Given the description of an element on the screen output the (x, y) to click on. 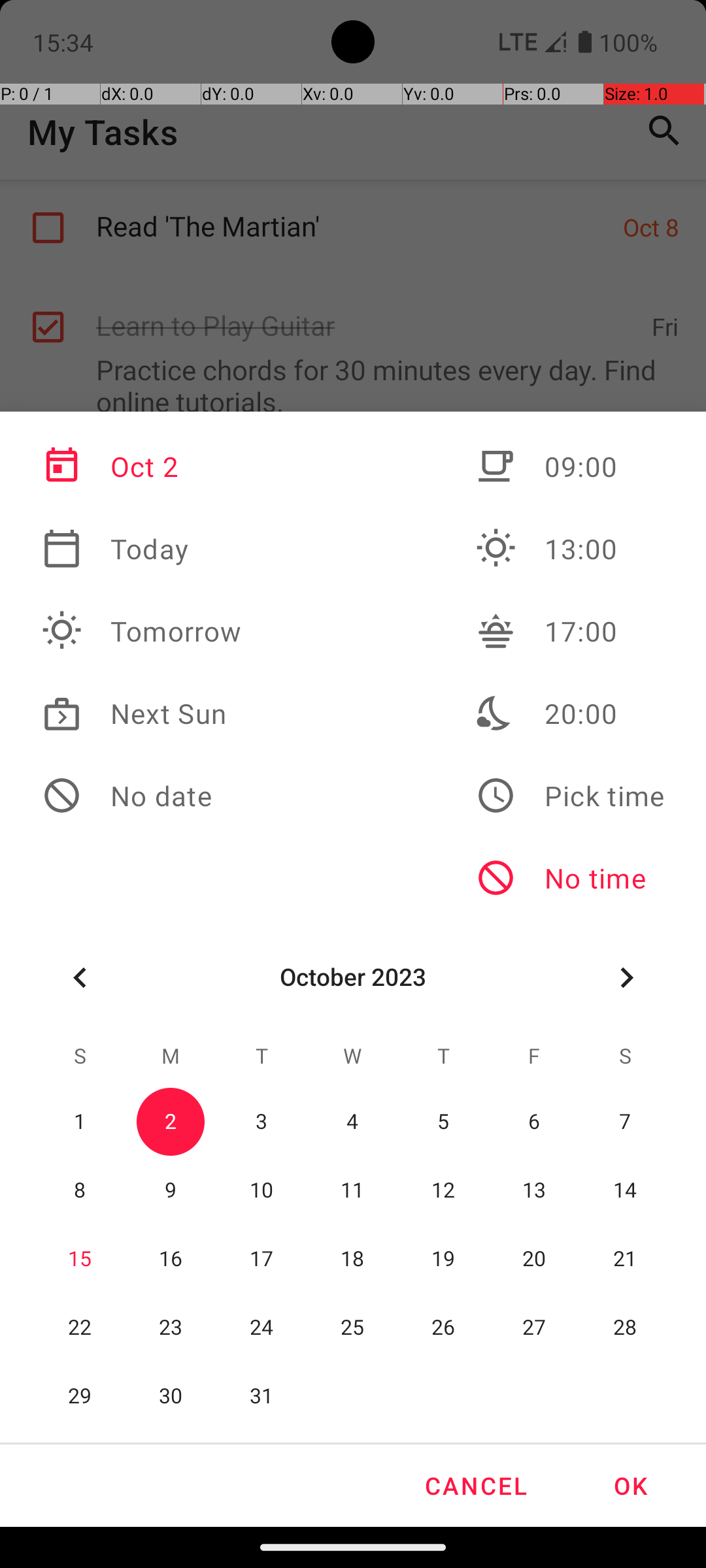
Oct 2 Element type: android.widget.CompoundButton (141, 466)
